Given the description of an element on the screen output the (x, y) to click on. 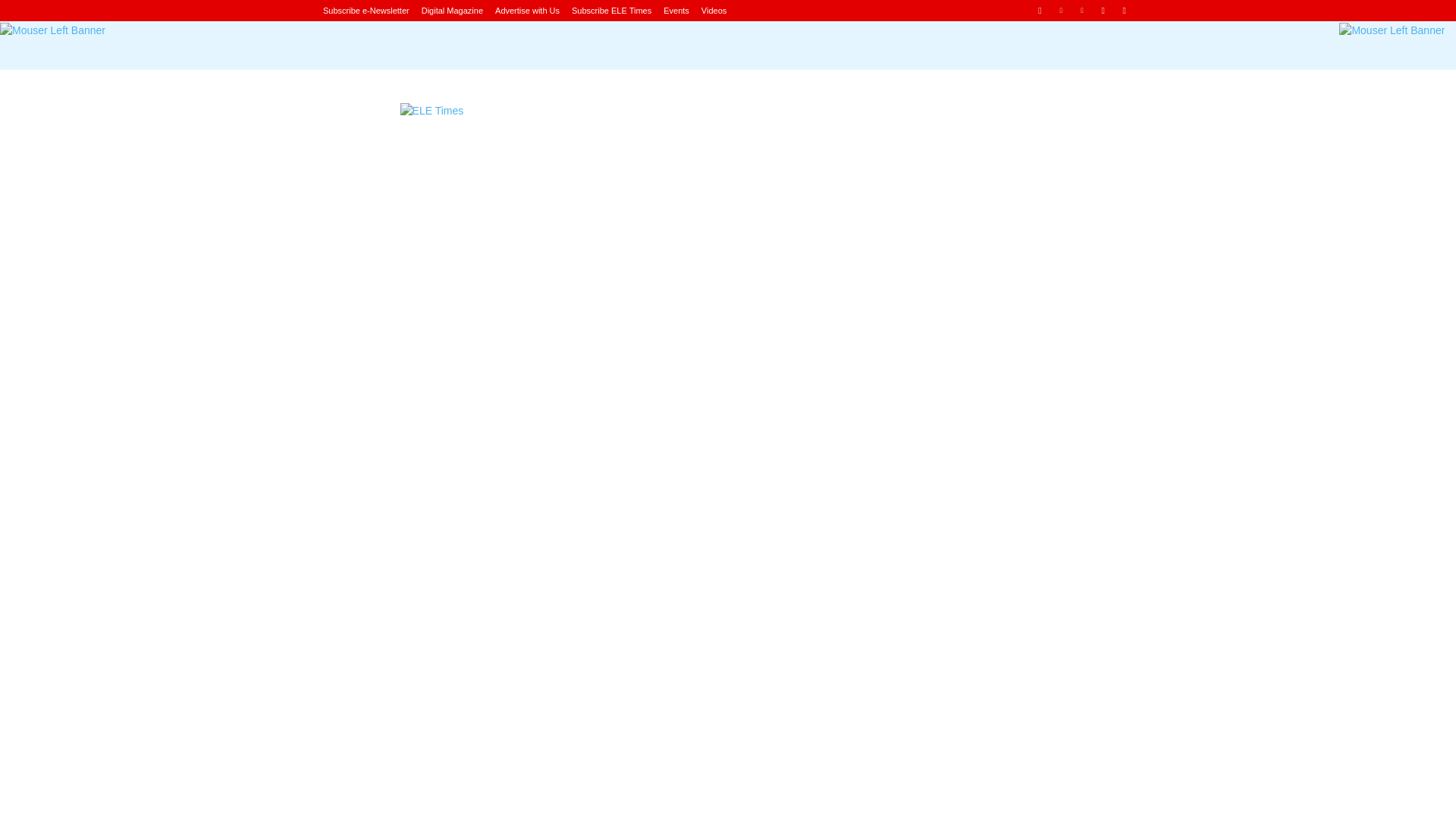
Tumblr (1103, 9)
Linkedin (1061, 9)
Pinterest (1082, 9)
Facebook (1039, 9)
Twitter (1123, 9)
